Given the description of an element on the screen output the (x, y) to click on. 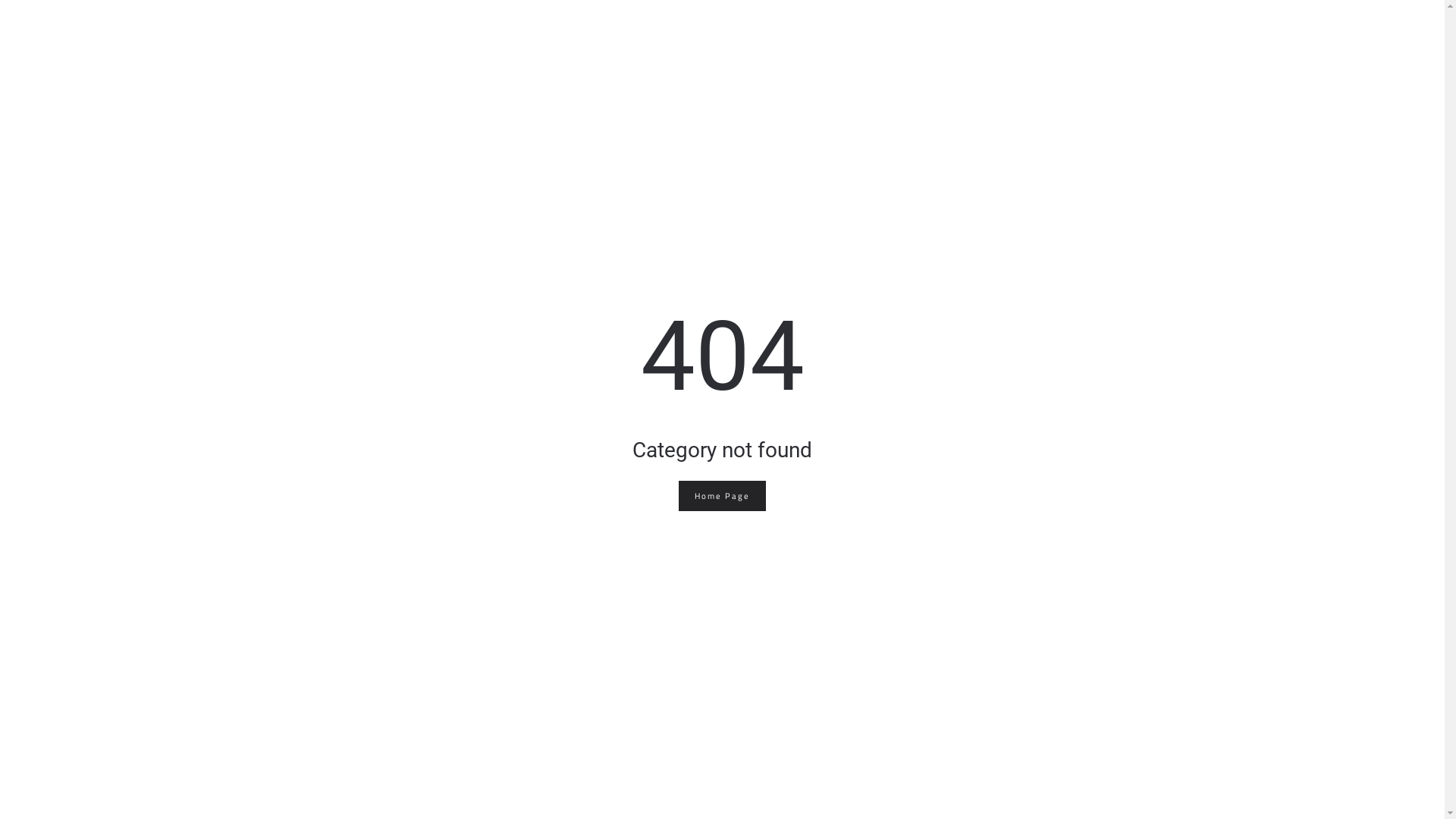
Home Page Element type: text (721, 495)
